Given the description of an element on the screen output the (x, y) to click on. 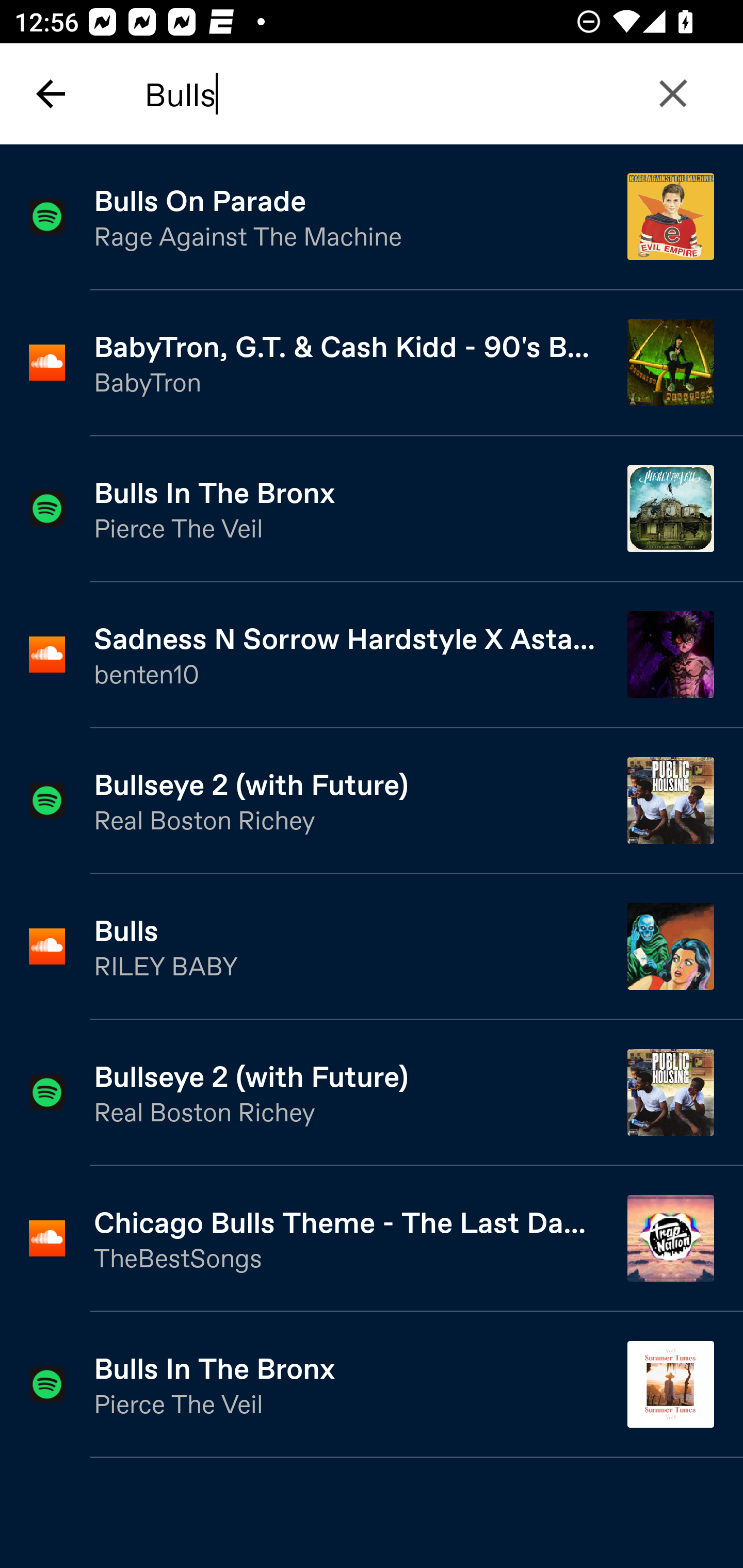
Navigate up (50, 93)
Bulls (422, 93)
Clear Search (673, 93)
Bulls On Parade Rage Against The Machine (371, 217)
BabyTron, G.T. & Cash Kidd - 90's Bulls BabyTron (371, 362)
Bulls In The Bronx Pierce The Veil (371, 508)
Bullseye 2 (with Future) Real Boston Richey (371, 800)
Bulls RILEY BABY (371, 947)
Bullseye 2 (with Future) Real Boston Richey (371, 1093)
Bulls In The Bronx Pierce The Veil (371, 1385)
